Given the description of an element on the screen output the (x, y) to click on. 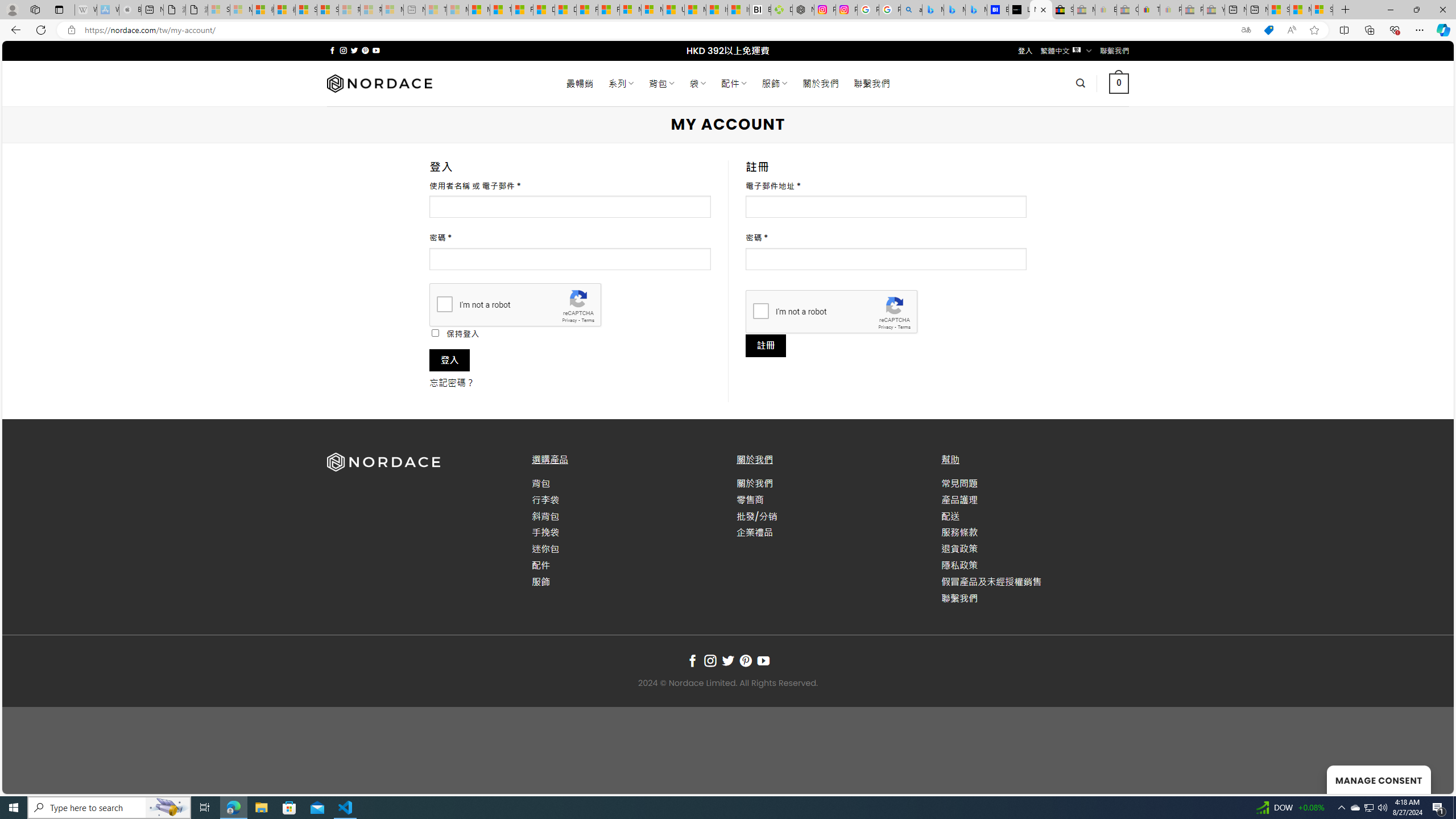
Go to top (1430, 777)
Press Room - eBay Inc. - Sleeping (1192, 9)
Food and Drink - MSN (522, 9)
Microsoft Bing Travel - Shangri-La Hotel Bangkok (975, 9)
